Given the description of an element on the screen output the (x, y) to click on. 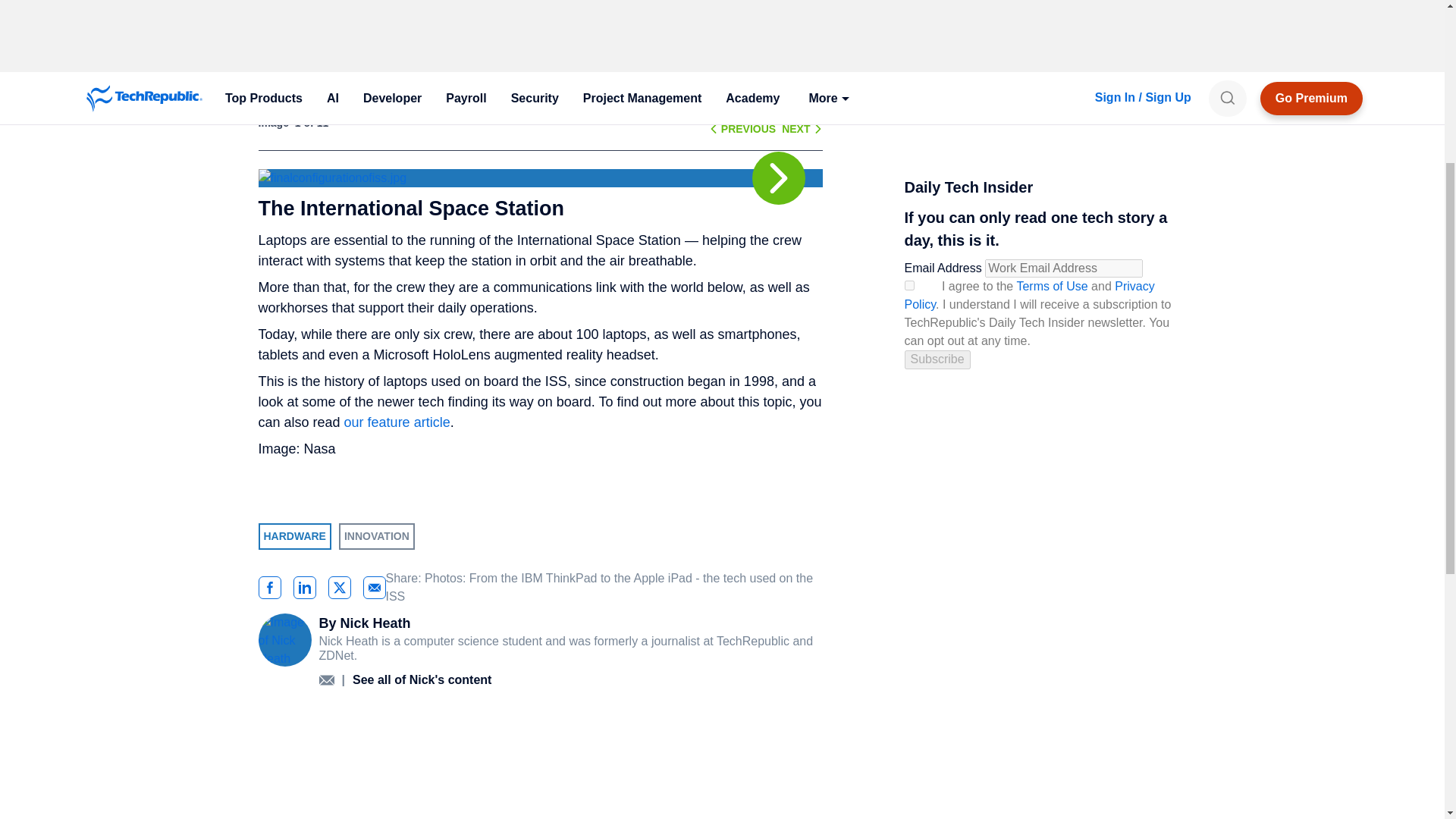
PREVIOUS (748, 128)
NEXT (795, 128)
on (909, 285)
